Given the description of an element on the screen output the (x, y) to click on. 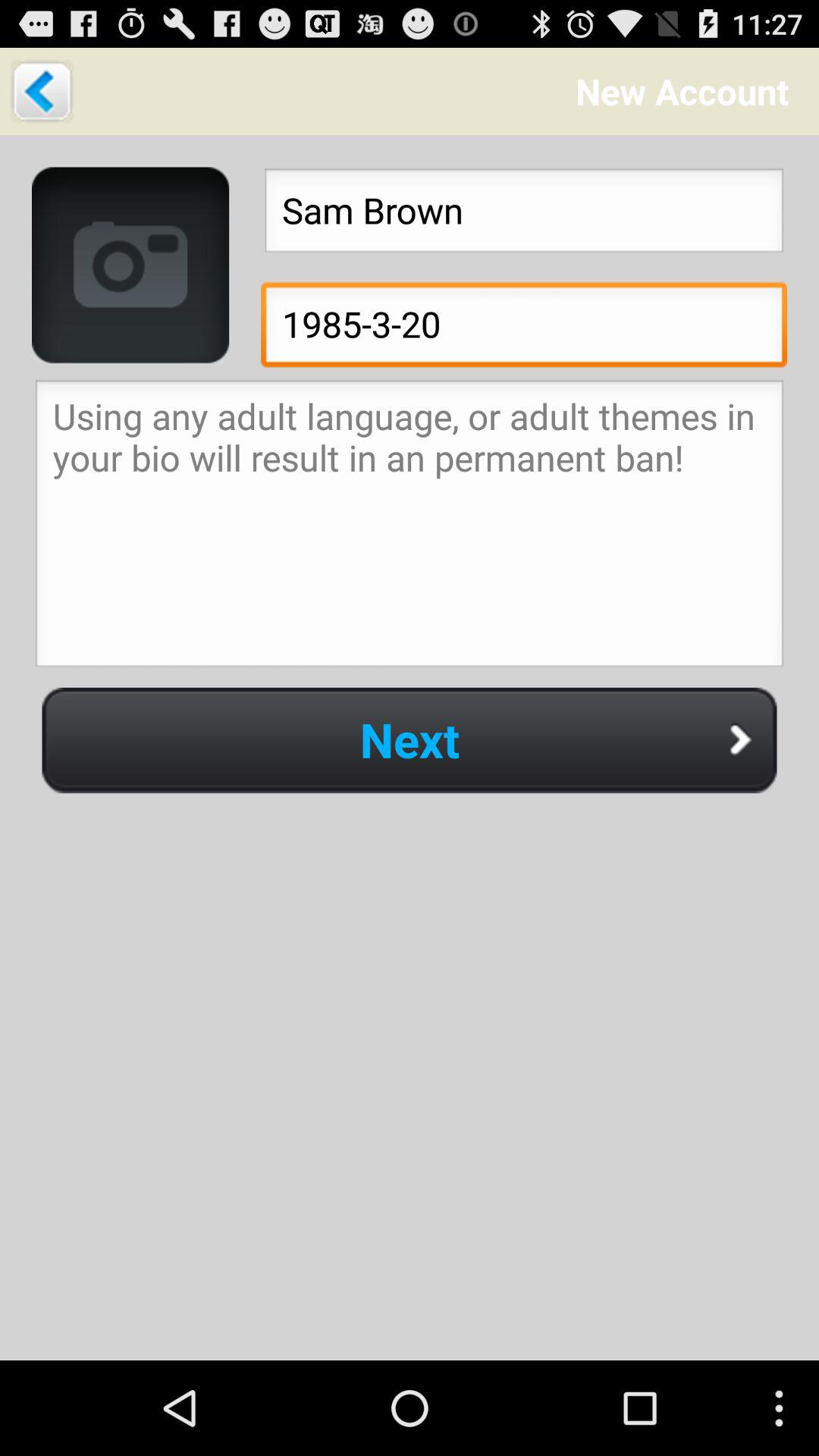
input account description (409, 527)
